Given the description of an element on the screen output the (x, y) to click on. 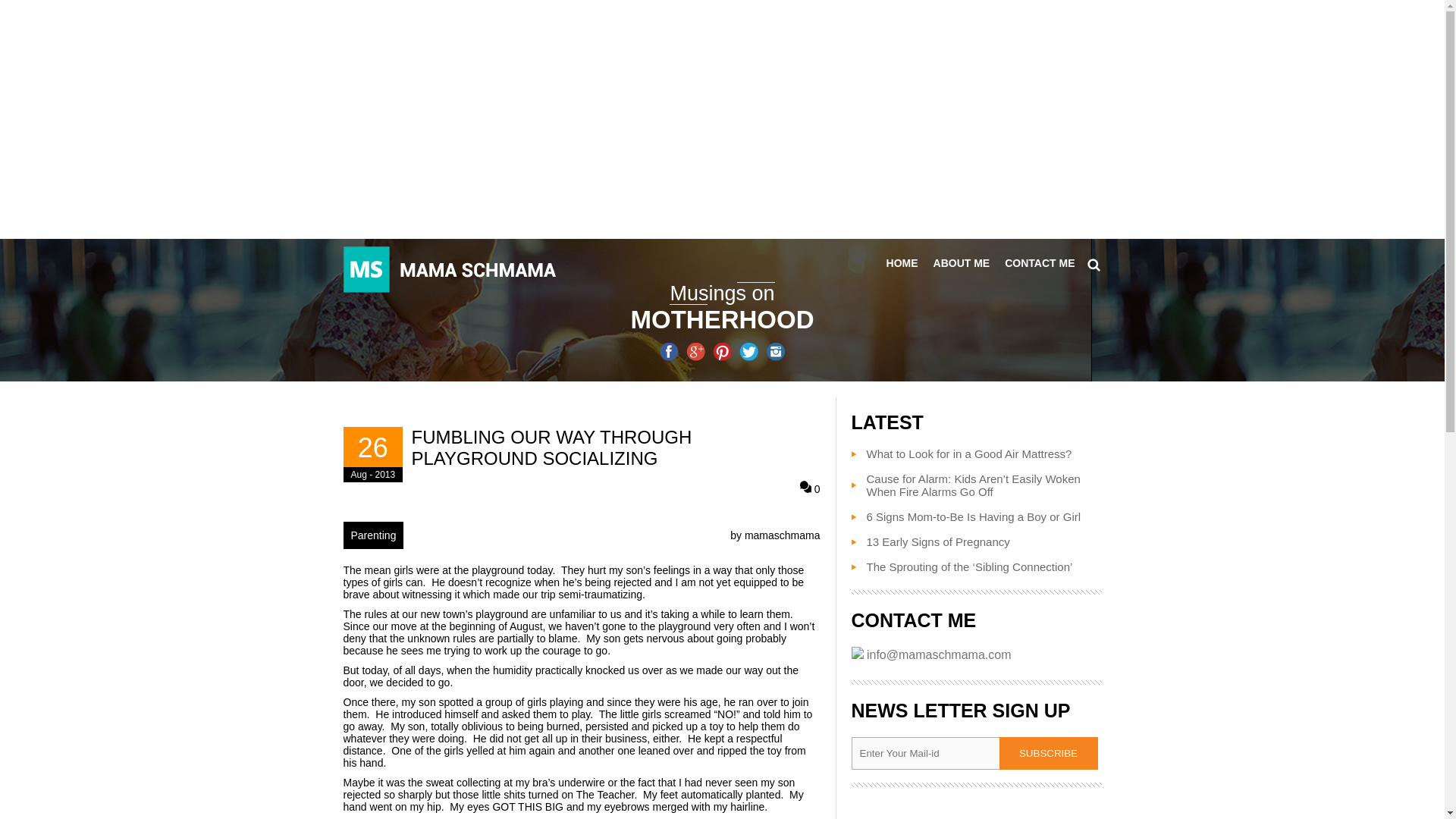
13 Early Signs of Pregnancy (929, 541)
6 Signs Mom-to-Be Is Having a Boy or Girl (965, 516)
What to Look for in a Good Air Mattress? (960, 453)
Parenting (372, 534)
HOME (902, 262)
ABOUT ME (961, 262)
CONTACT ME (1039, 262)
Subscribe (1047, 753)
Rechercher (1093, 264)
Rechercher (1093, 264)
FUMBLING OUR WAY THROUGH PLAYGROUND SOCIALIZING (614, 447)
